Given the description of an element on the screen output the (x, y) to click on. 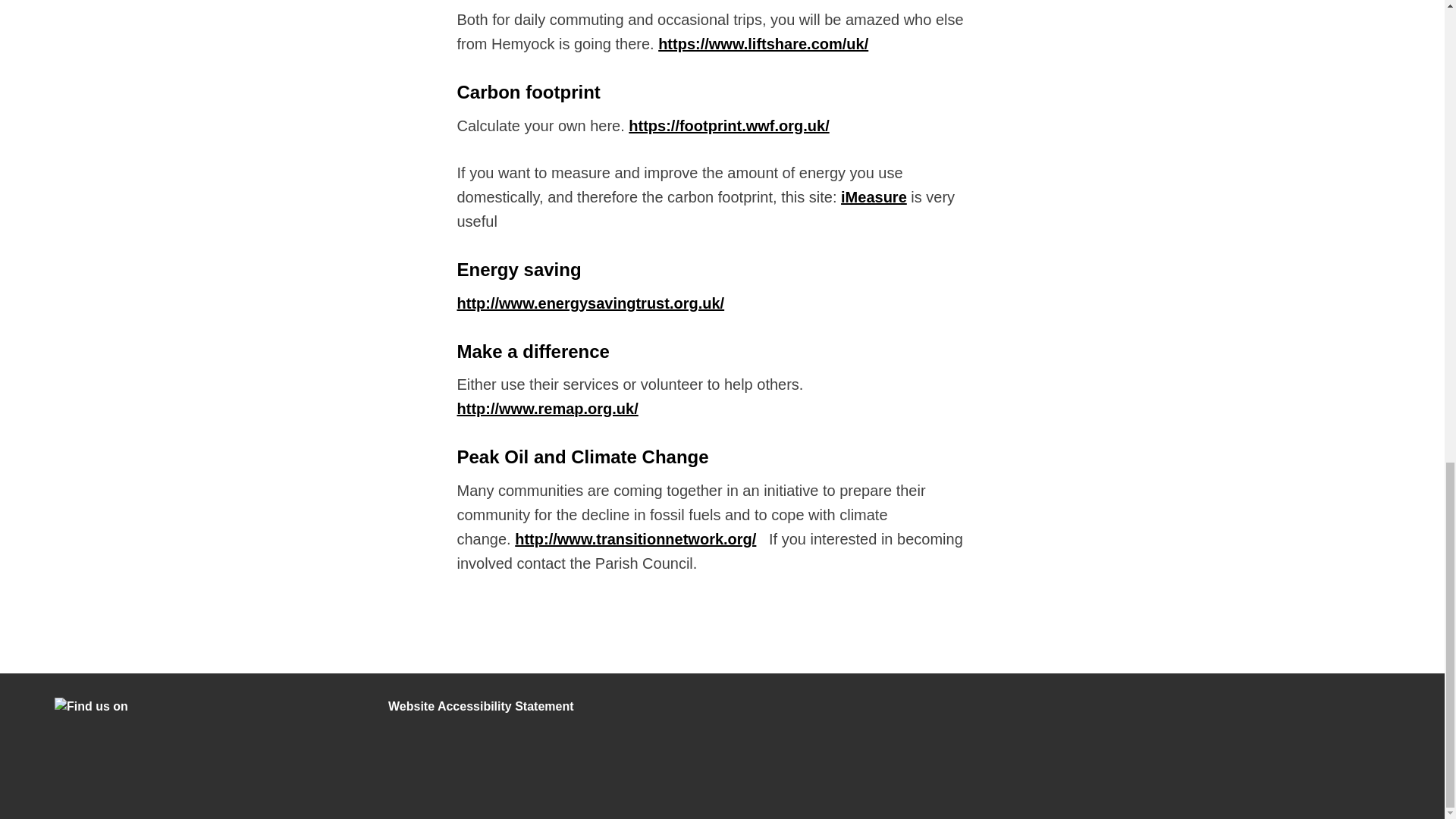
Website Accessibility Statement (480, 706)
iMeasure (874, 197)
